Given the description of an element on the screen output the (x, y) to click on. 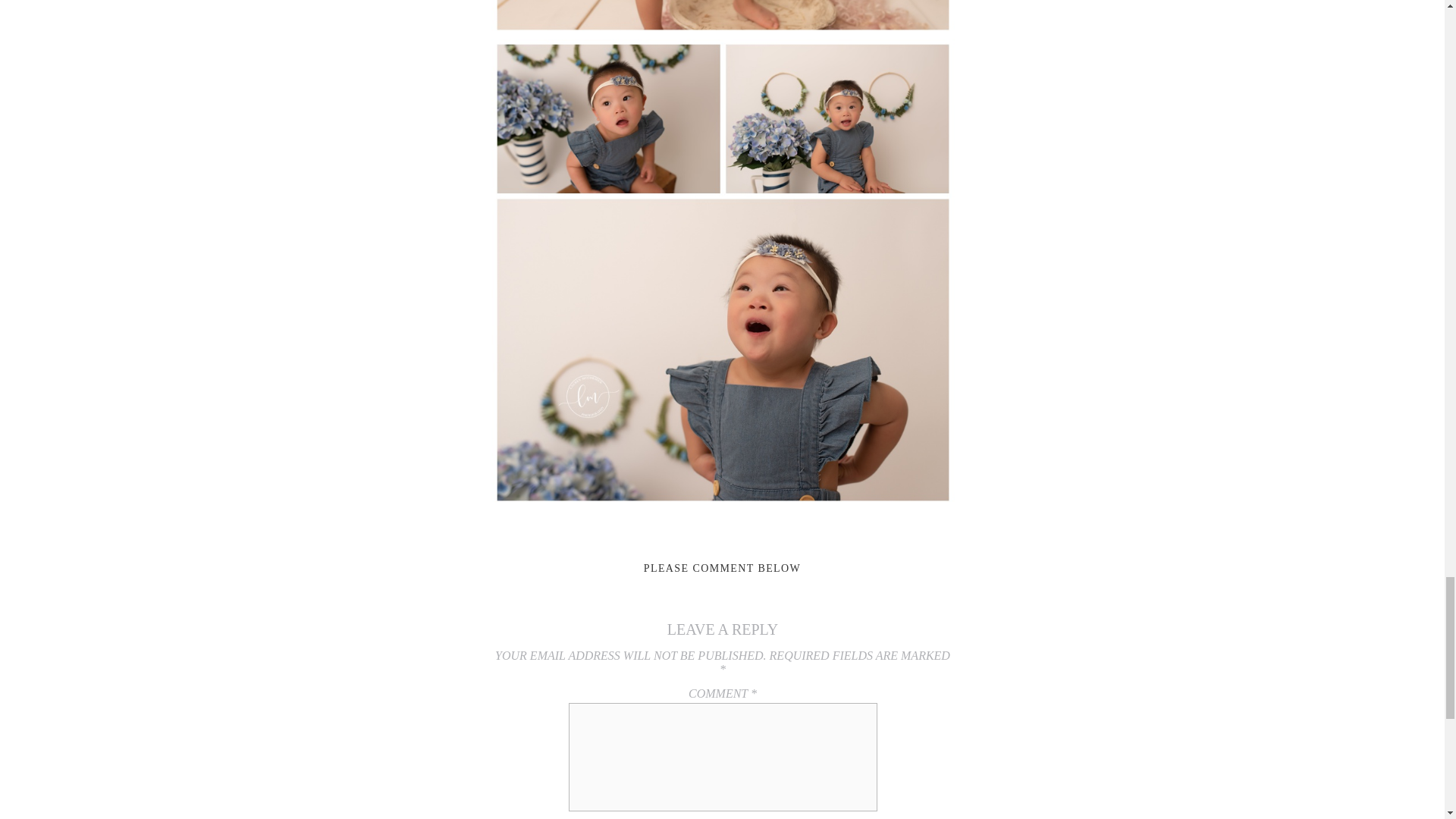
PLEASE COMMENT BELOW (721, 568)
